Given the description of an element on the screen output the (x, y) to click on. 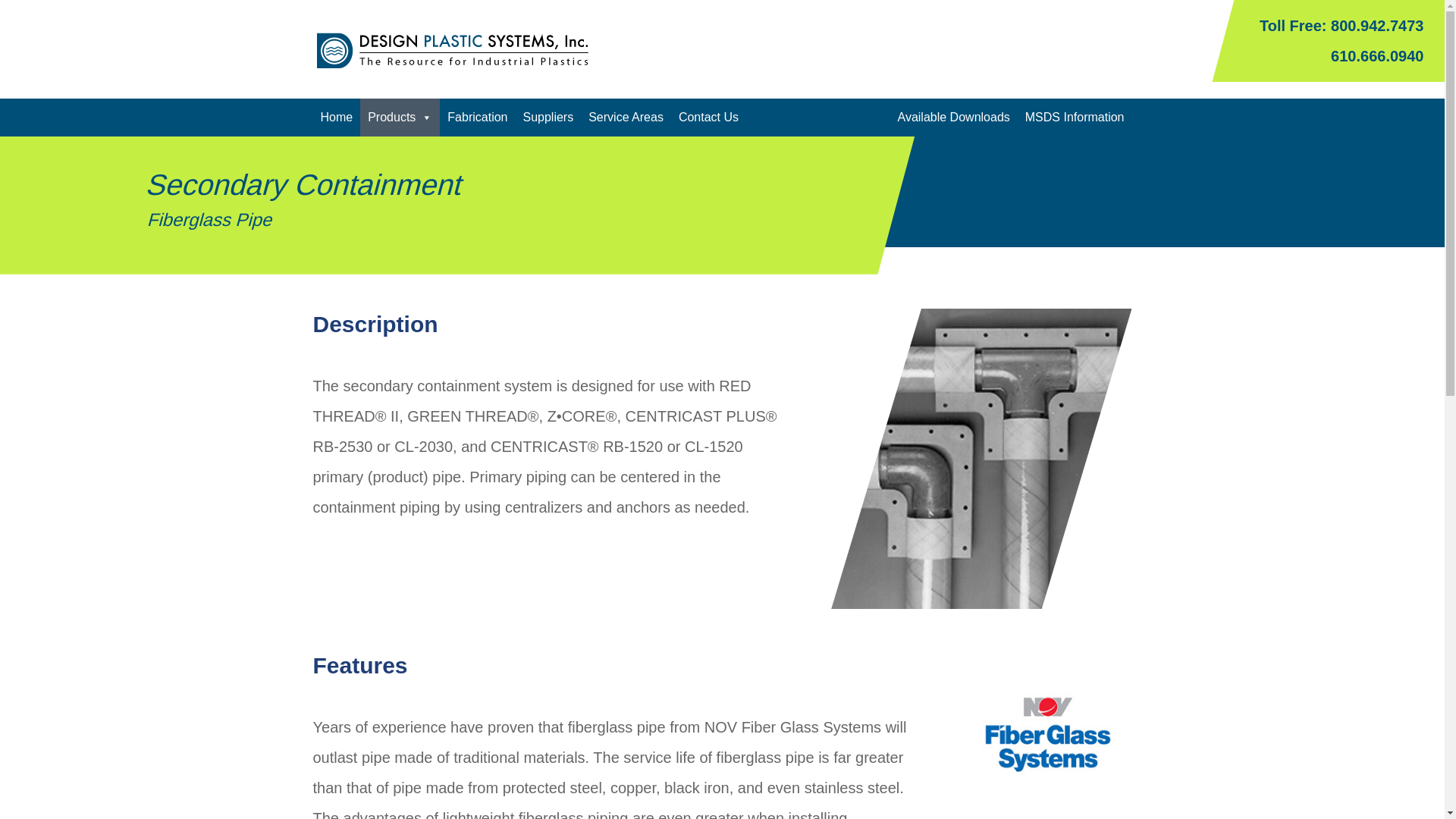
Home (336, 117)
Service Areas (625, 117)
secondary-containment-250 (981, 458)
nov-fiber-glass-systems-250 (1045, 734)
Available Downloads (953, 117)
Products (399, 117)
Fabrication (477, 117)
Suppliers (547, 117)
MSDS Information (1074, 117)
Contact Us (708, 117)
